Given the description of an element on the screen output the (x, y) to click on. 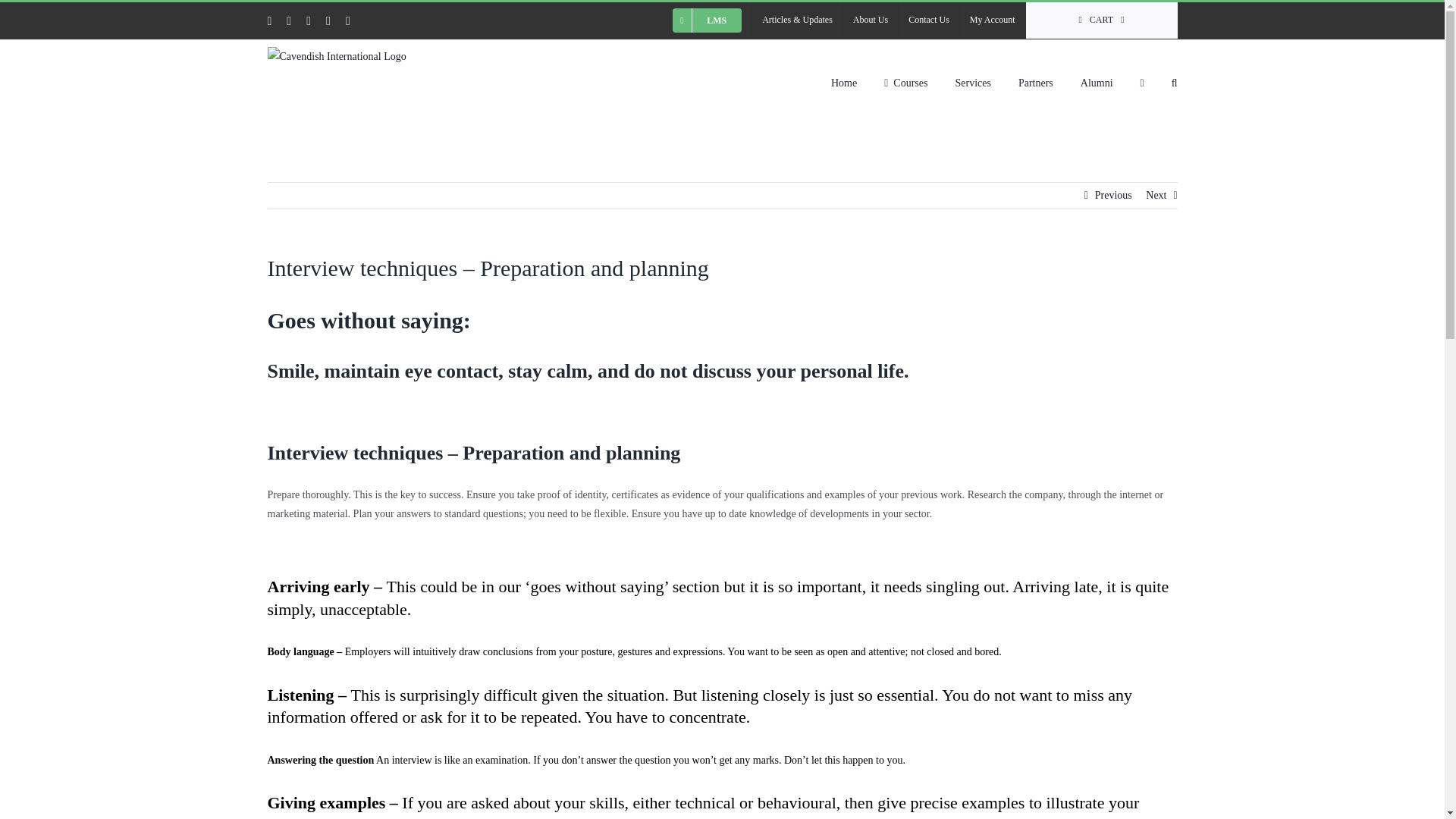
Contact Us (928, 20)
About Us (870, 20)
CART (1101, 20)
My Account (992, 20)
LMS (706, 20)
Log In (1066, 181)
